Given the description of an element on the screen output the (x, y) to click on. 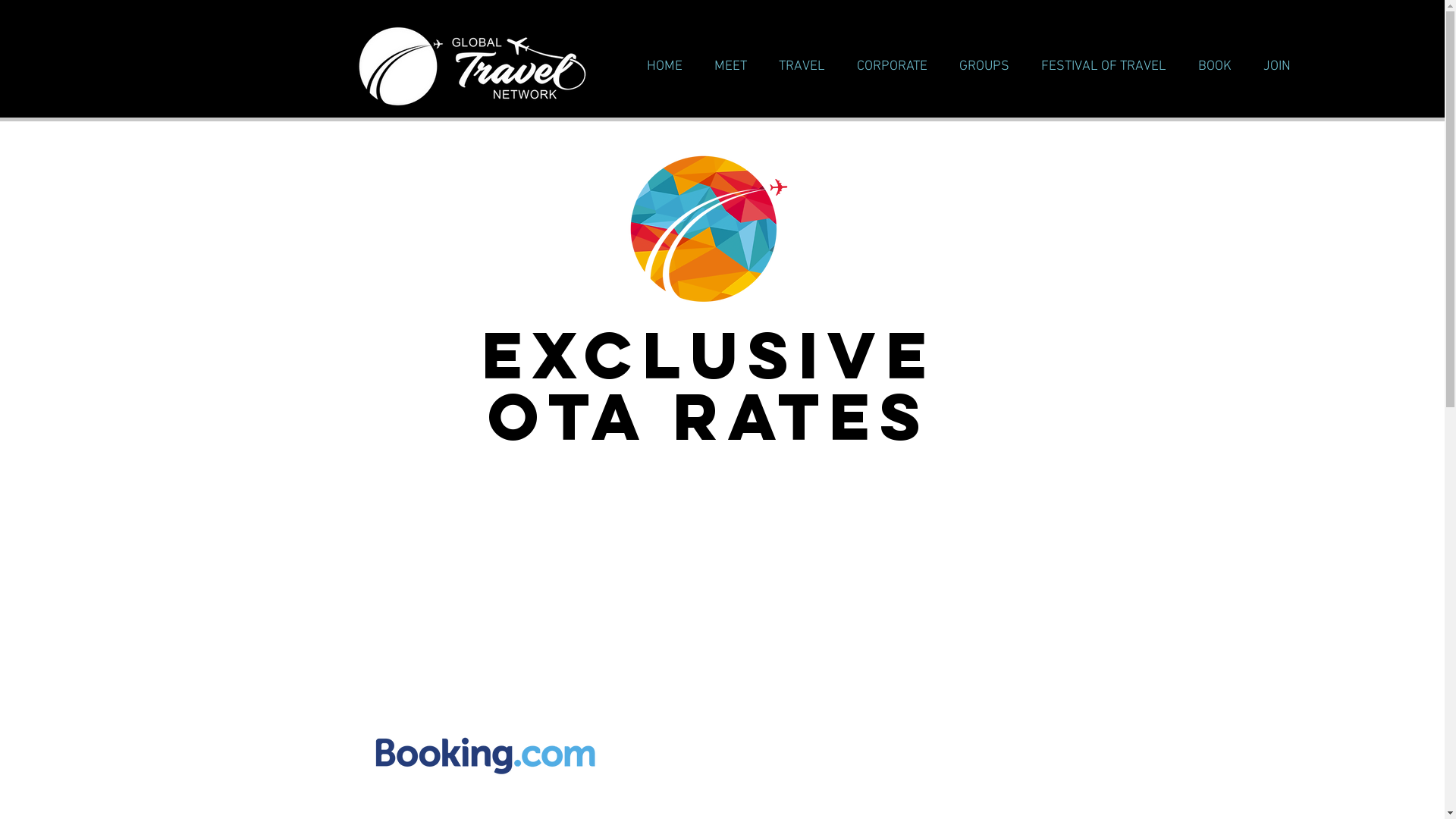
CORPORATE Element type: text (887, 66)
Embedded Content Element type: hover (726, 587)
HOME Element type: text (659, 66)
TRAVEL Element type: text (796, 66)
GROUPS Element type: text (978, 66)
BOOK Element type: text (1210, 66)
MEET Element type: text (726, 66)
JOIN Element type: text (1272, 66)
FESTIVAL OF TRAVEL Element type: text (1098, 66)
